Given the description of an element on the screen output the (x, y) to click on. 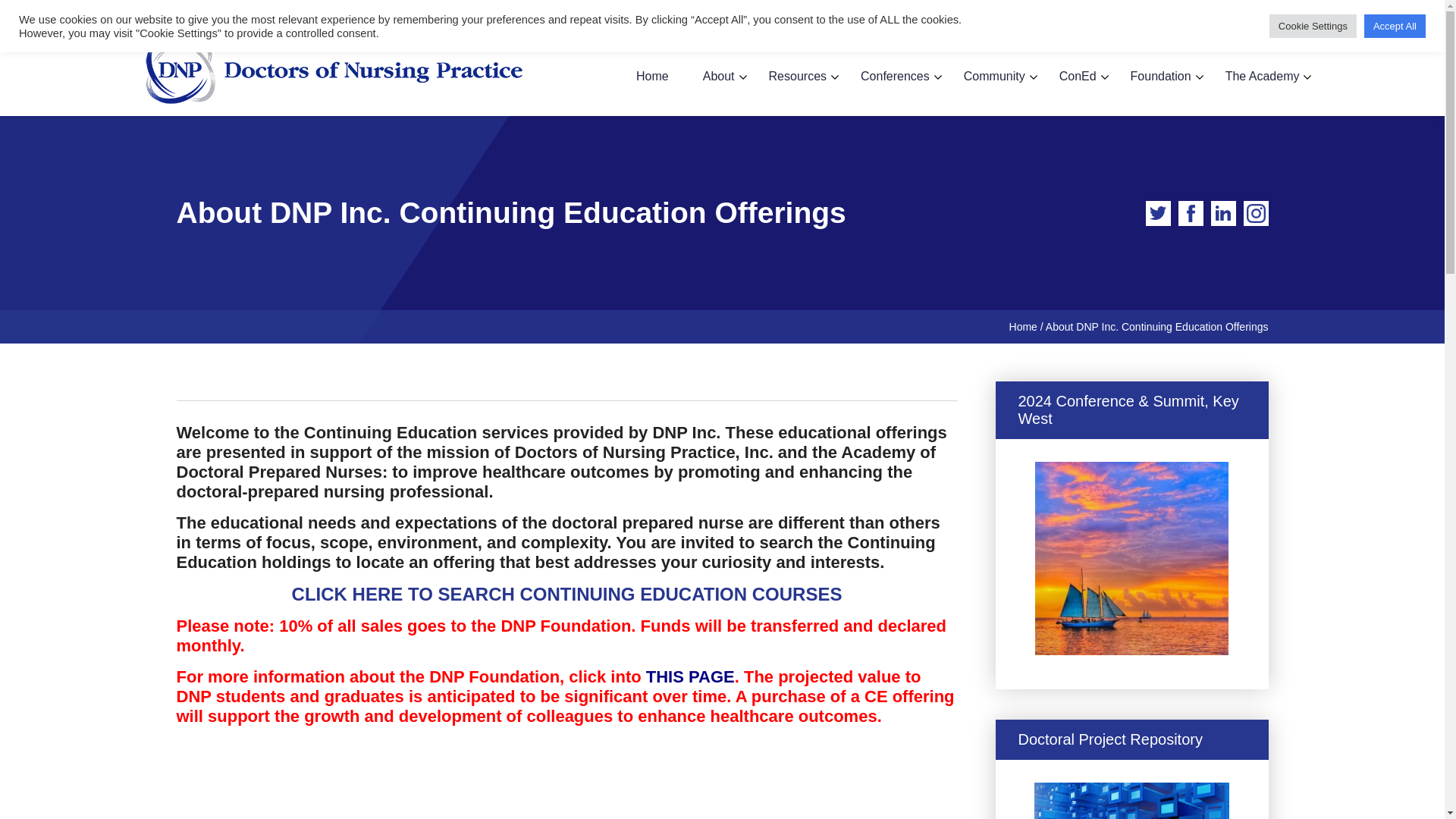
Foundation (1161, 76)
ConEd (1077, 76)
About (719, 76)
0 (1282, 21)
888-651-9160 (205, 11)
Resources (797, 76)
Community (994, 76)
Home (652, 76)
Conferences (895, 76)
Login (1115, 20)
